Given the description of an element on the screen output the (x, y) to click on. 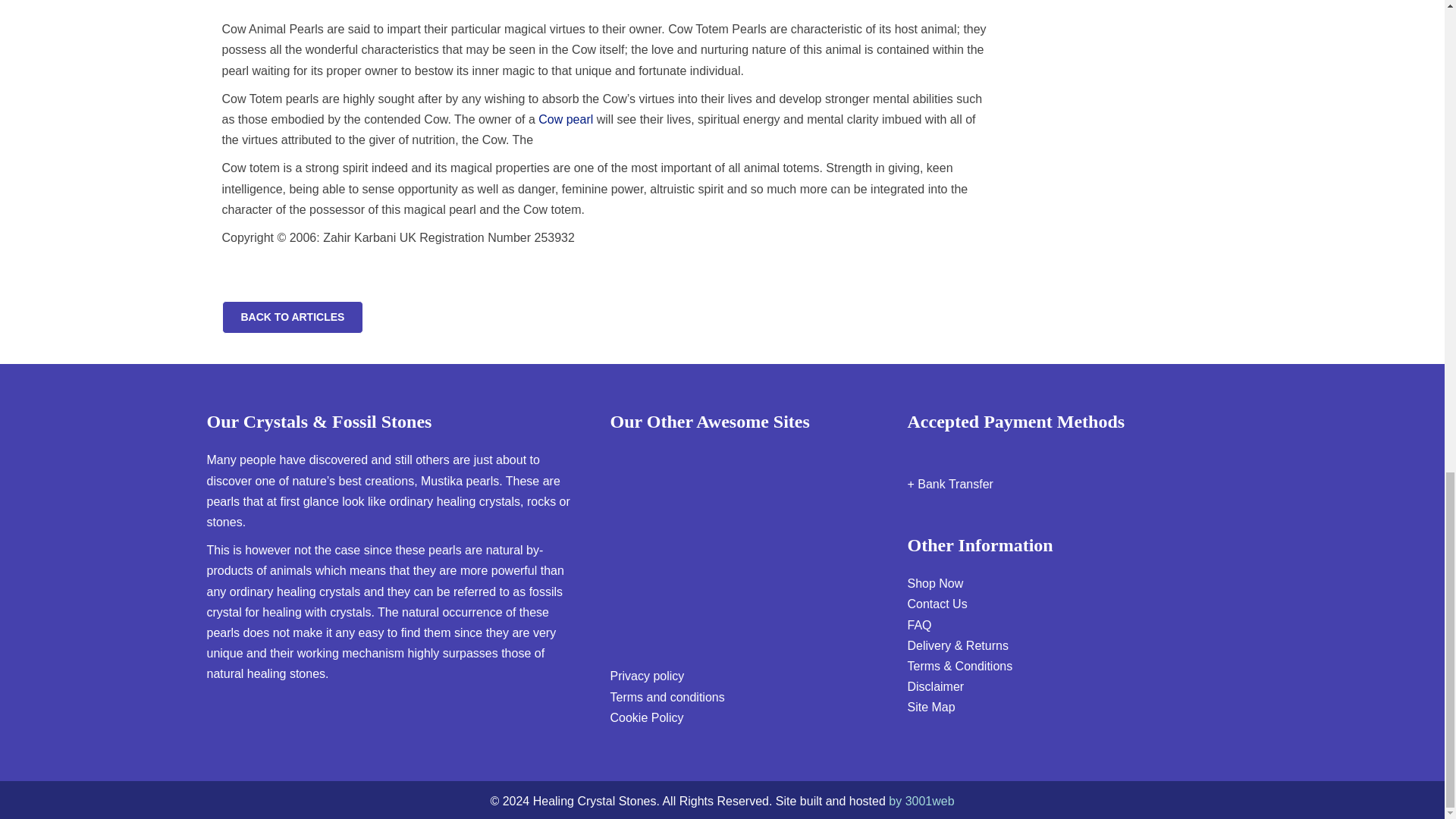
astral-logo-sm (707, 536)
Cow pearl (565, 119)
mystical logo-small-white50 (707, 468)
BACK TO ARTICLES (291, 317)
keris logo 2 (703, 618)
payment-methods250 (994, 454)
